Given the description of an element on the screen output the (x, y) to click on. 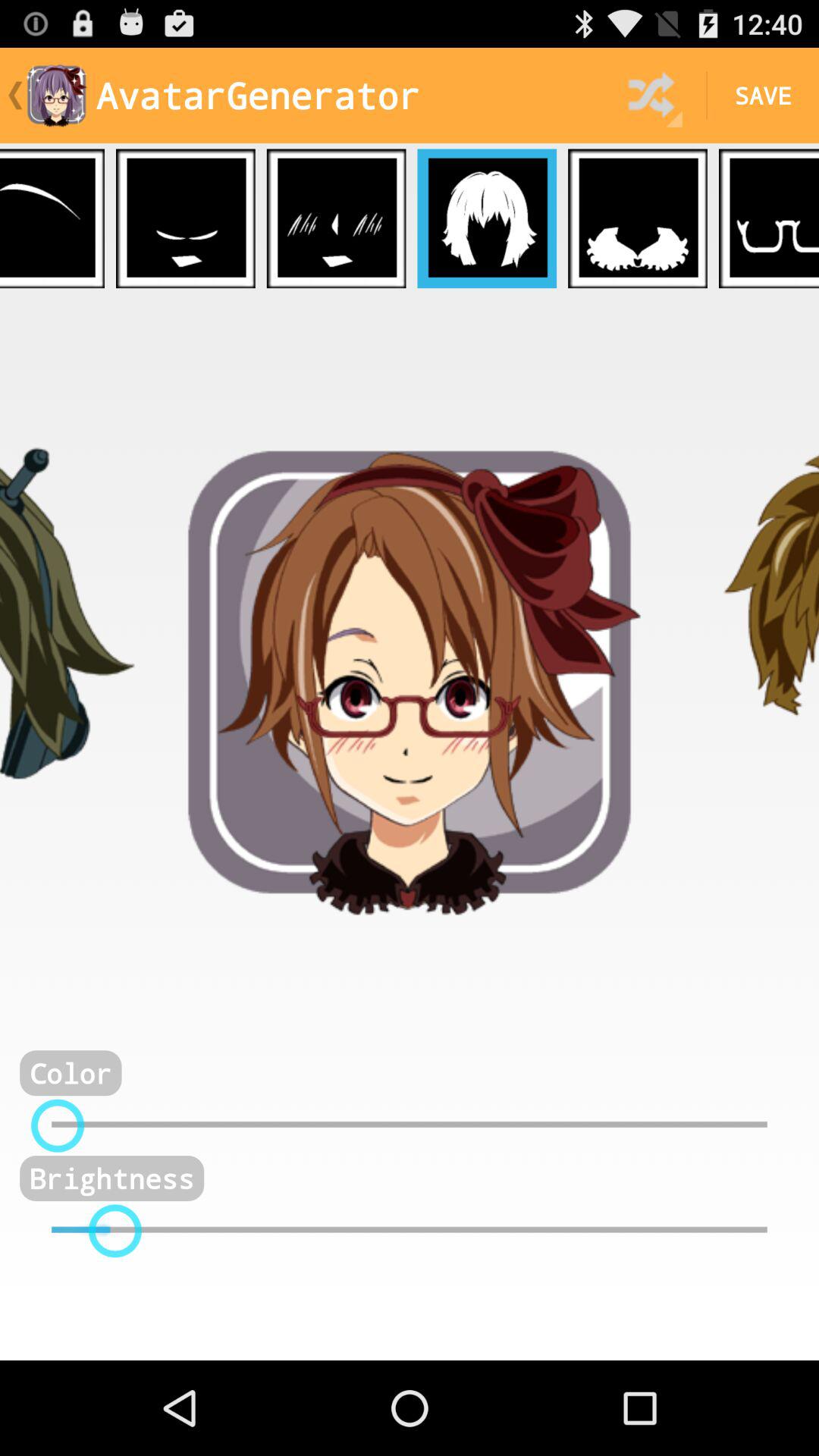
go to eyebrows (52, 218)
